Given the description of an element on the screen output the (x, y) to click on. 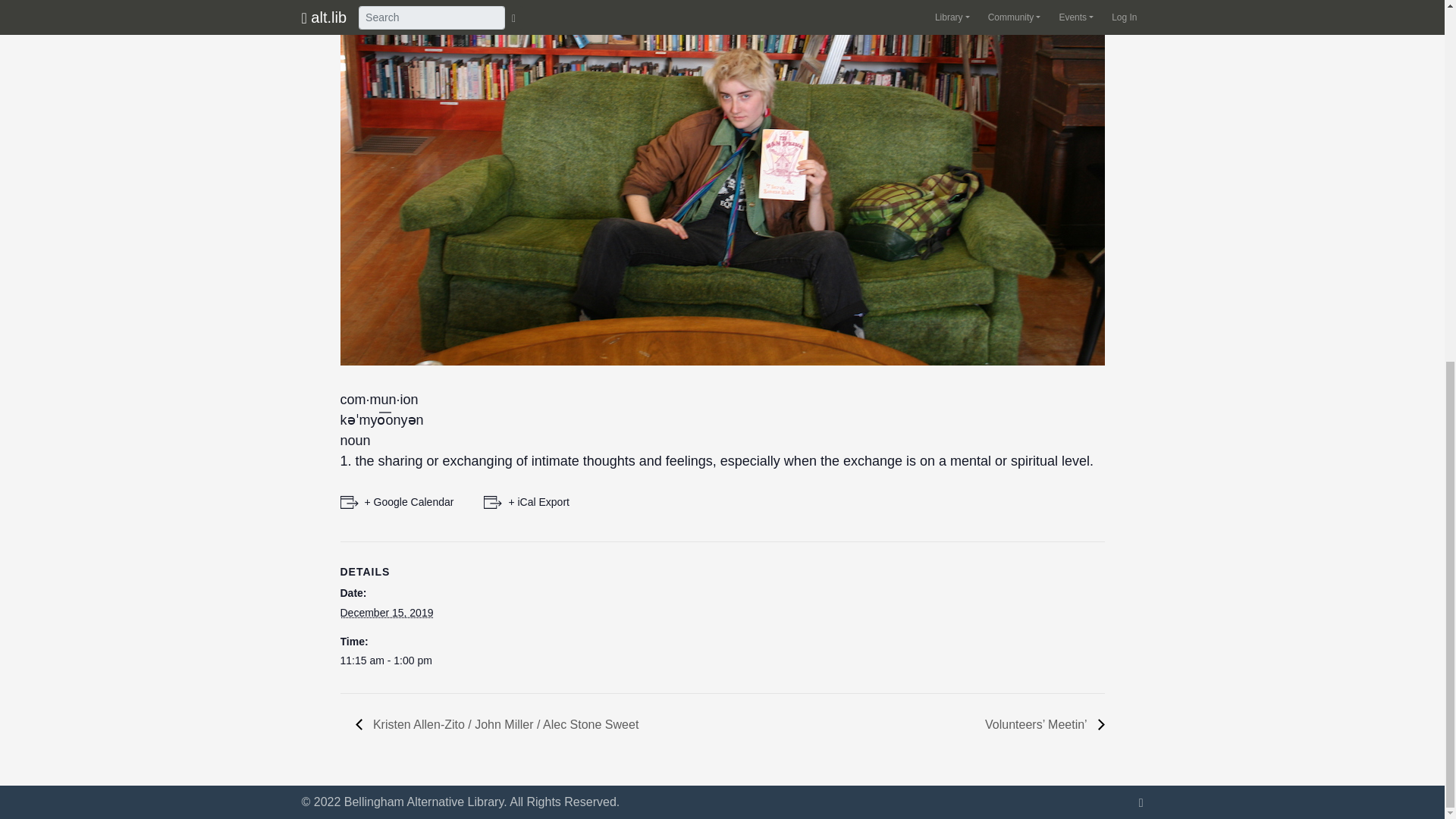
Bellingham Alternative Library (423, 801)
